Given the description of an element on the screen output the (x, y) to click on. 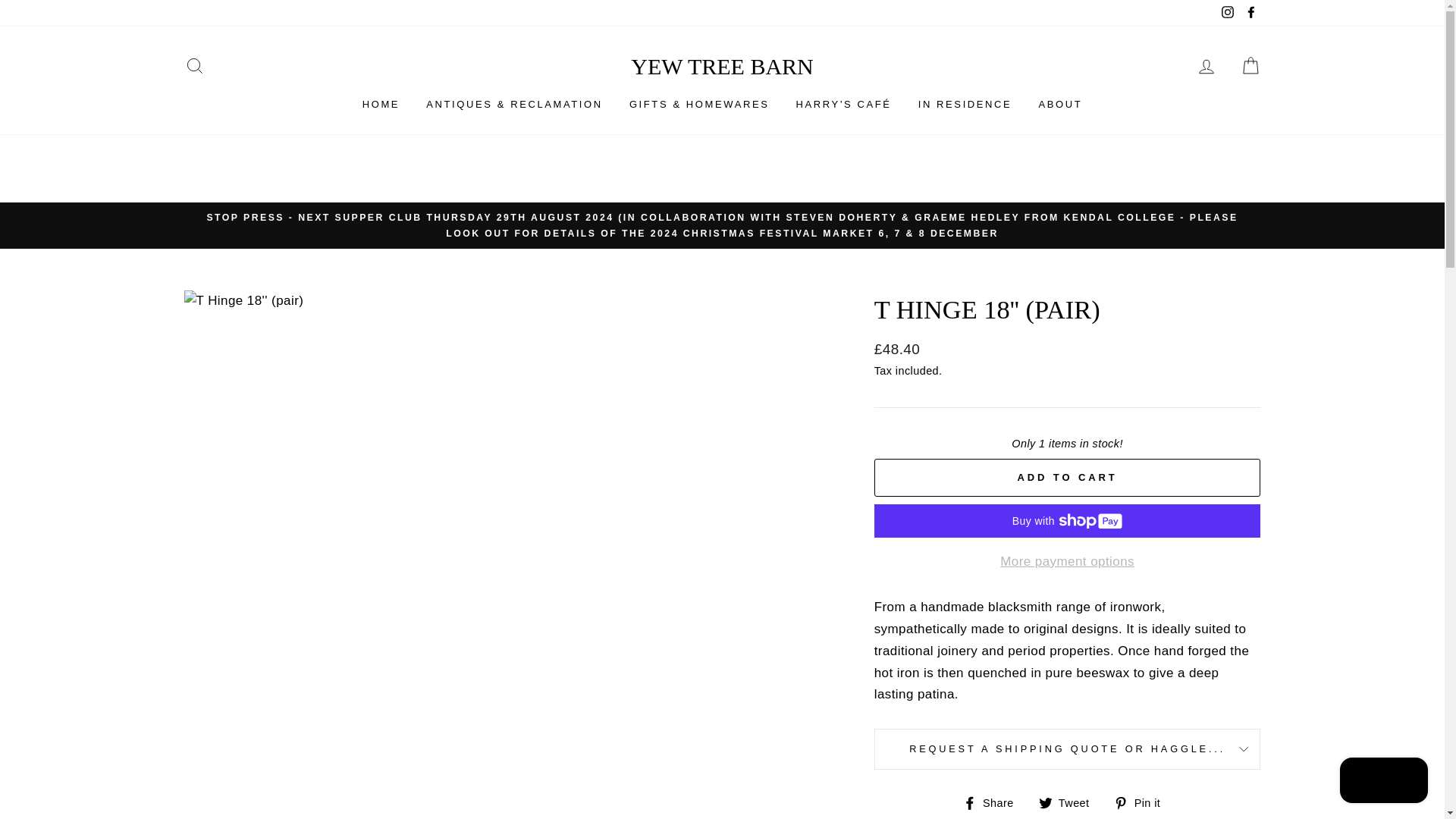
Pin on Pinterest (1142, 803)
Tweet on Twitter (1069, 803)
Share on Facebook (993, 803)
Shopify online store chat (1383, 781)
